Given the description of an element on the screen output the (x, y) to click on. 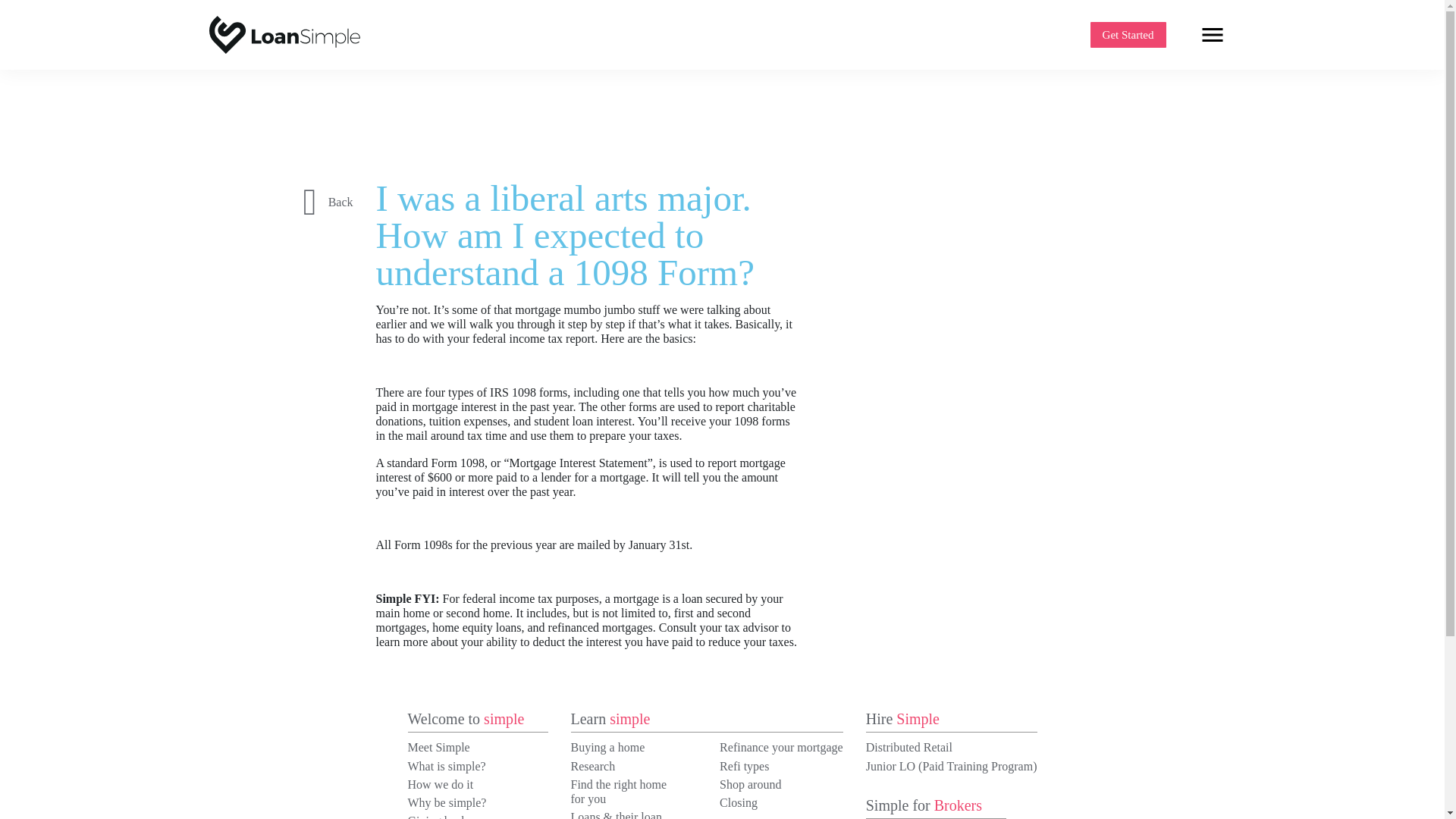
How we do it (440, 784)
Welcome to simple (477, 721)
Find the right home for you (618, 791)
Learn simple (706, 721)
What is simple? (446, 766)
Meet Simple (438, 747)
Research (592, 766)
Get Started (1128, 34)
Back (327, 201)
Giving back (437, 816)
Why be simple? (446, 802)
Buying a home (607, 747)
Get Started (1128, 34)
